Given the description of an element on the screen output the (x, y) to click on. 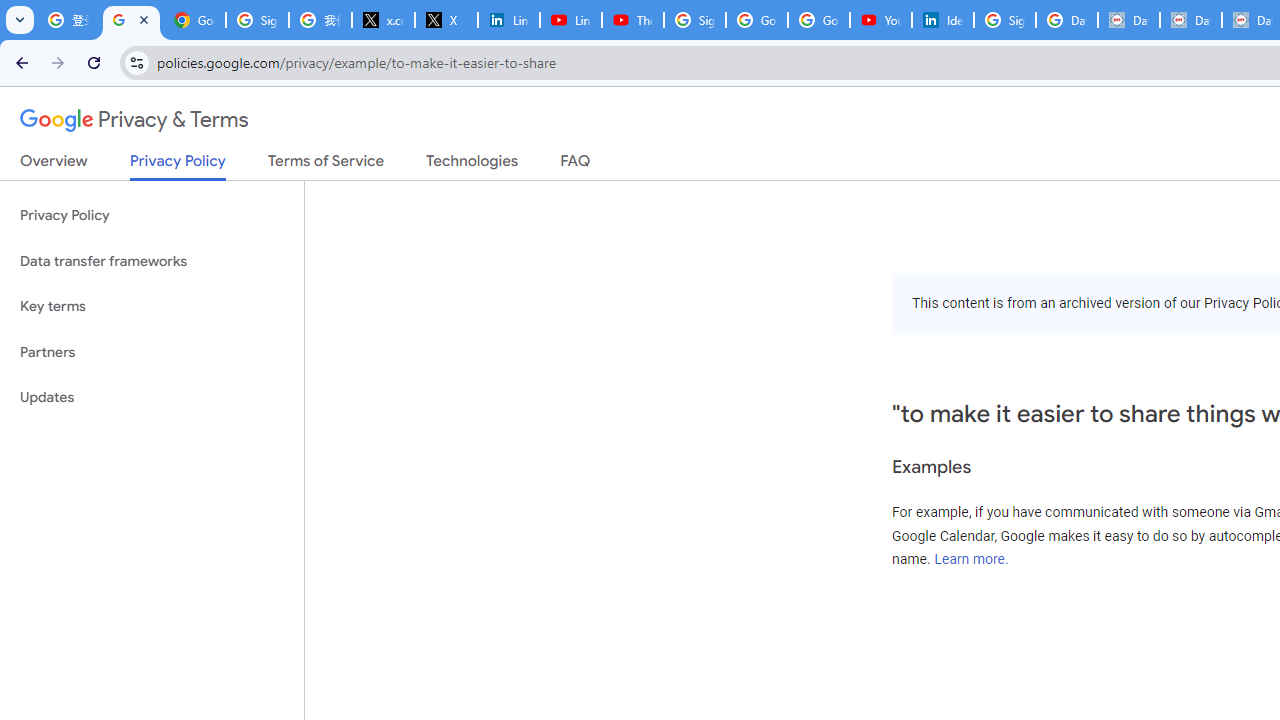
Key terms (152, 306)
